Given the description of an element on the screen output the (x, y) to click on. 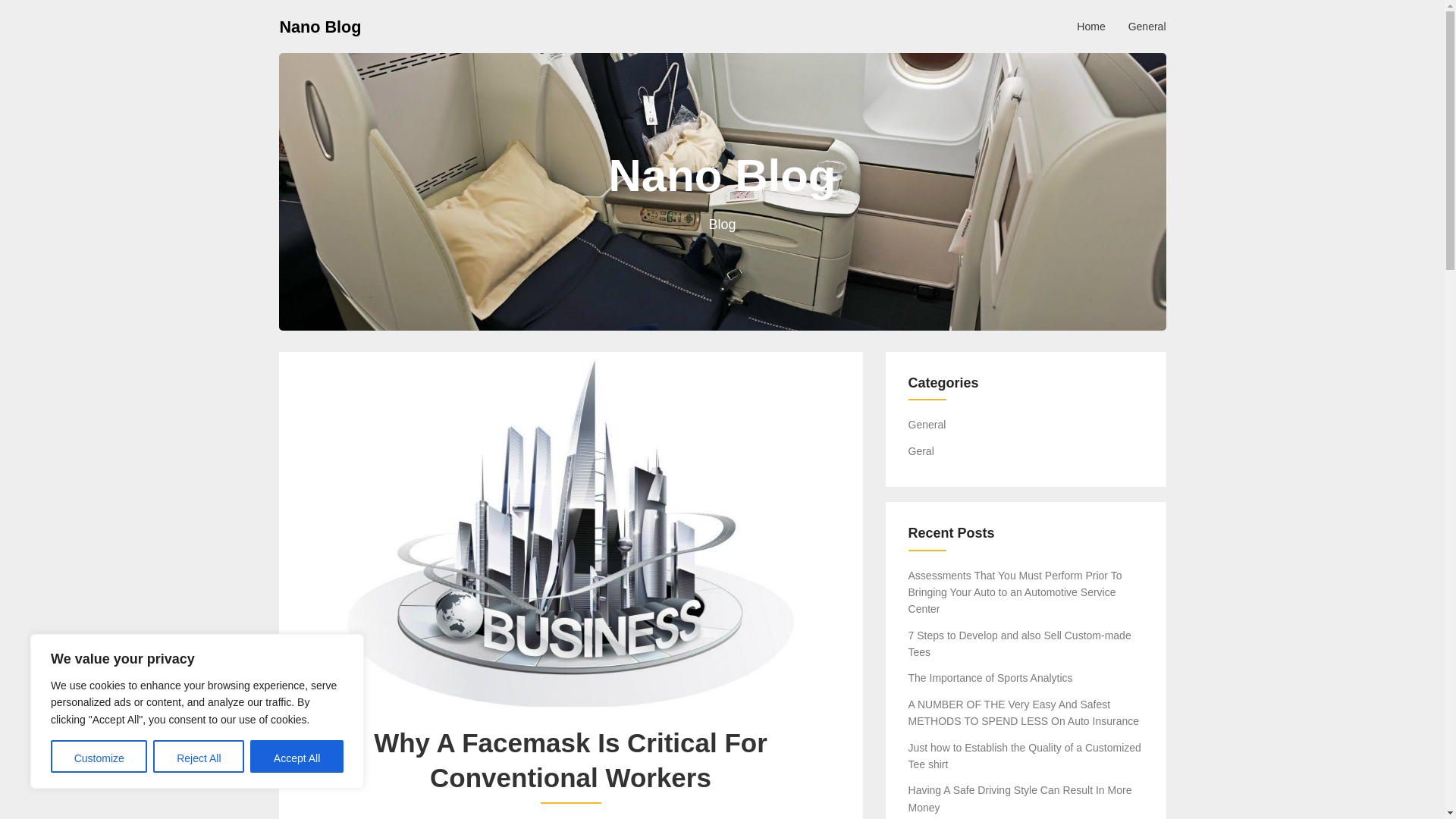
Reject All (198, 756)
The Importance of Sports Analytics (990, 677)
Nano Blog (320, 26)
7 Steps to Develop and also Sell Custom-made Tees (1019, 643)
Home (1090, 26)
General (927, 424)
Geral (921, 451)
General (1146, 26)
